Given the description of an element on the screen output the (x, y) to click on. 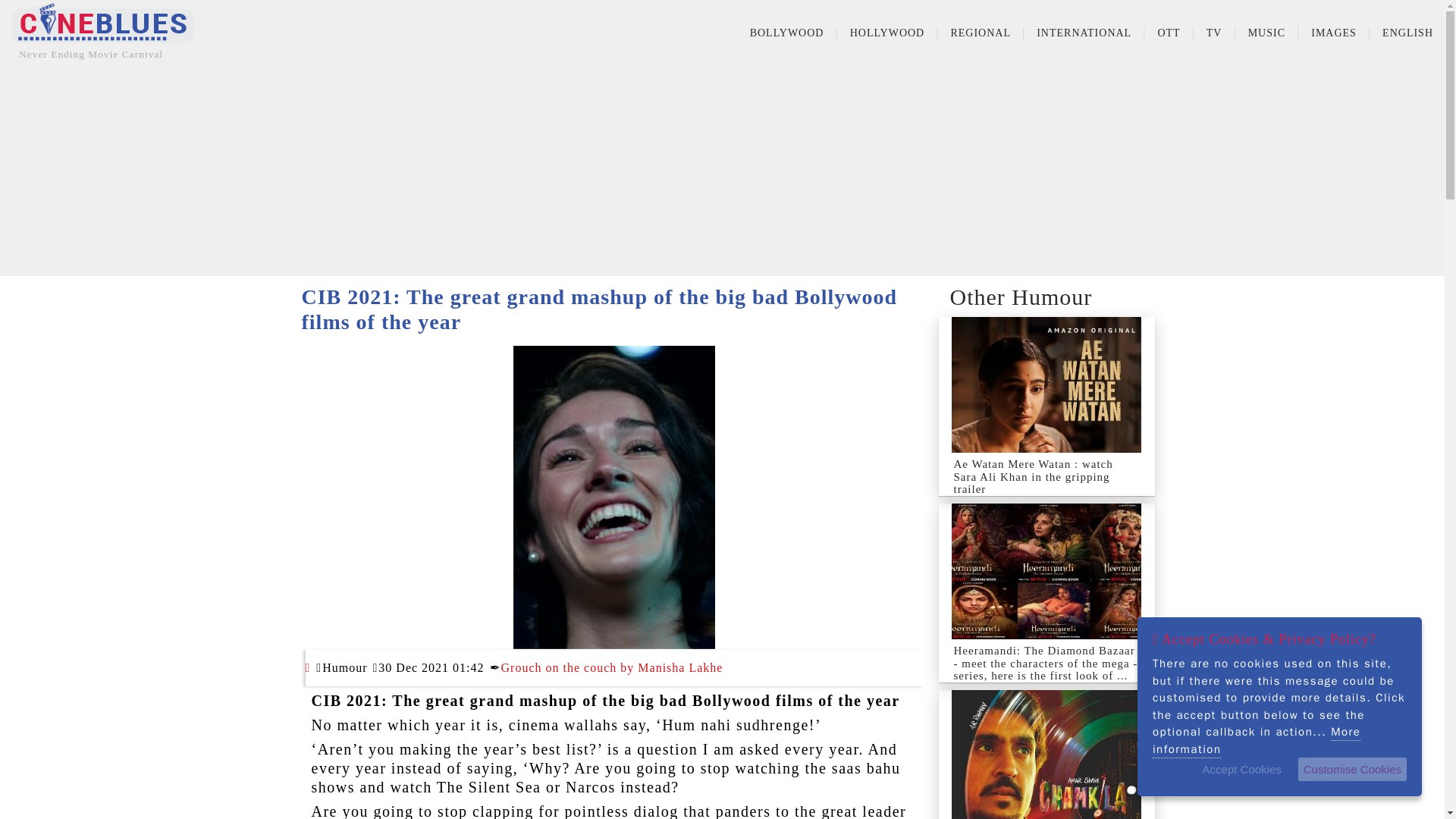
INTERNATIONAL (1083, 32)
BOLLYWOOD (786, 32)
HOLLYWOOD (887, 32)
OTT (1168, 32)
REGIONAL (980, 32)
Cineblues.com (103, 22)
